Given the description of an element on the screen output the (x, y) to click on. 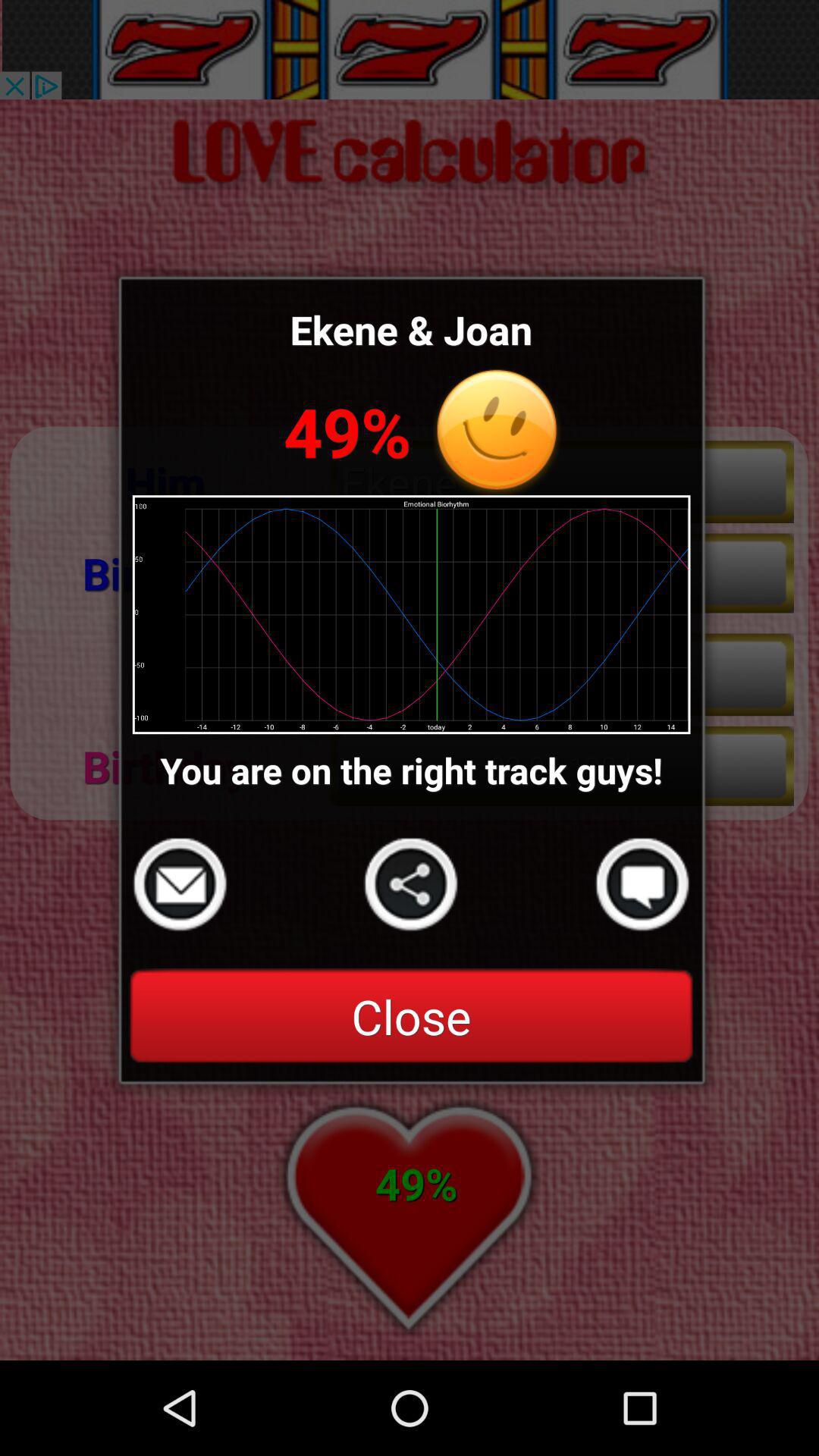
for messenger (642, 884)
